Given the description of an element on the screen output the (x, y) to click on. 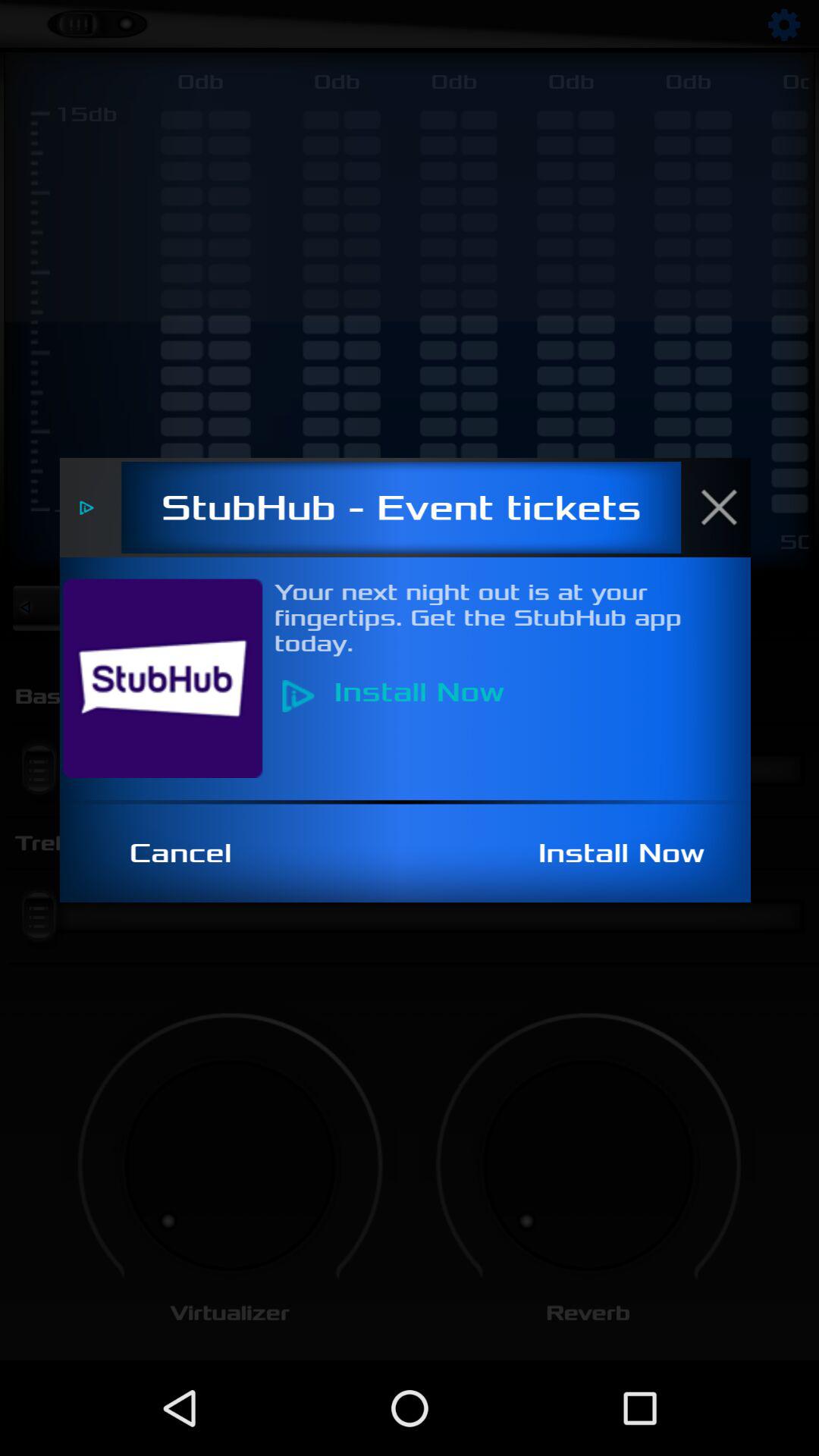
close button (727, 507)
